Given the description of an element on the screen output the (x, y) to click on. 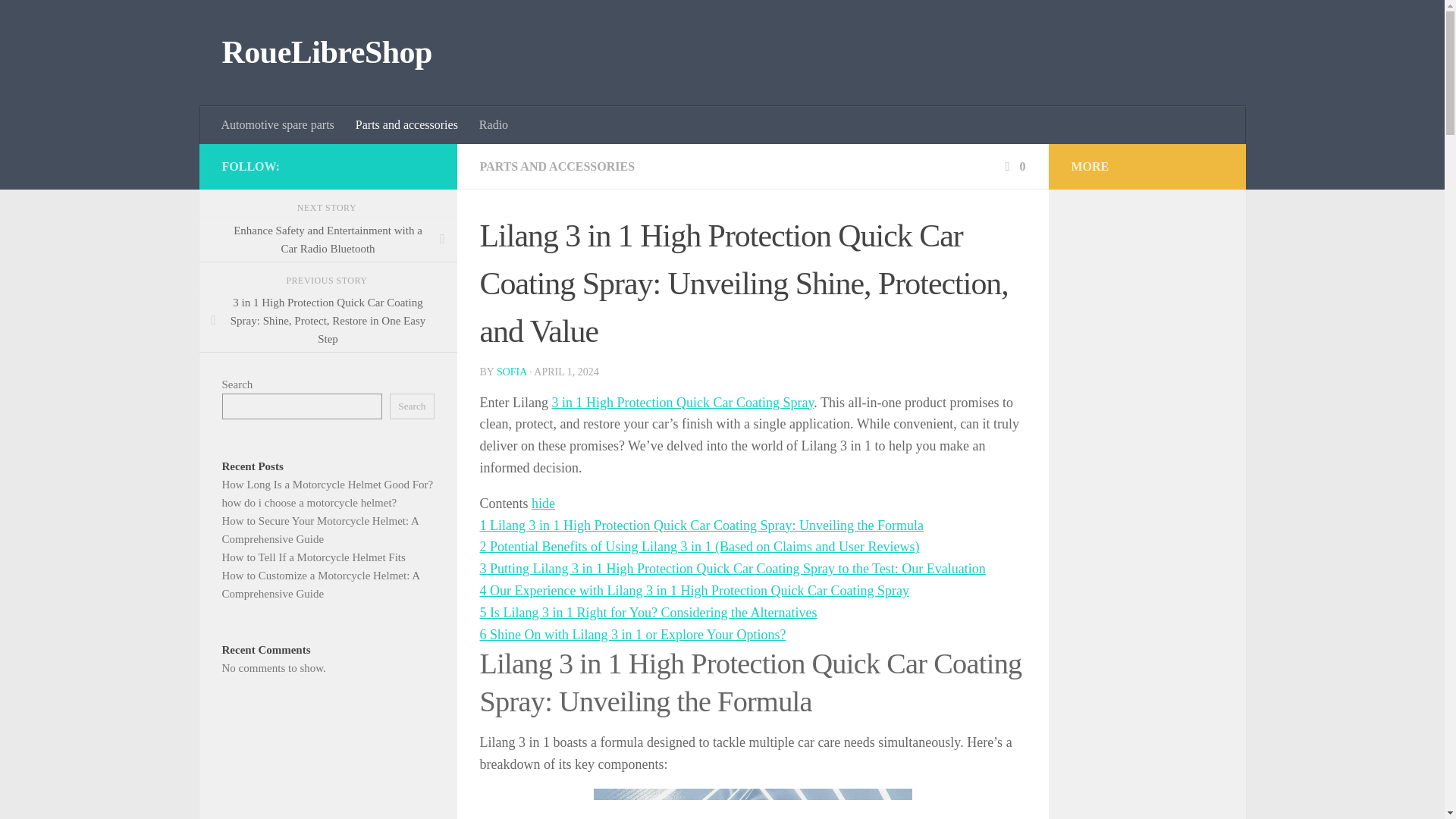
Skip to content (59, 20)
RoueLibreShop (325, 53)
6 Shine On with Lilang 3 in 1 or Explore Your Options? (632, 634)
Parts and accessories (406, 125)
0 (1013, 165)
Radio (493, 125)
